Given the description of an element on the screen output the (x, y) to click on. 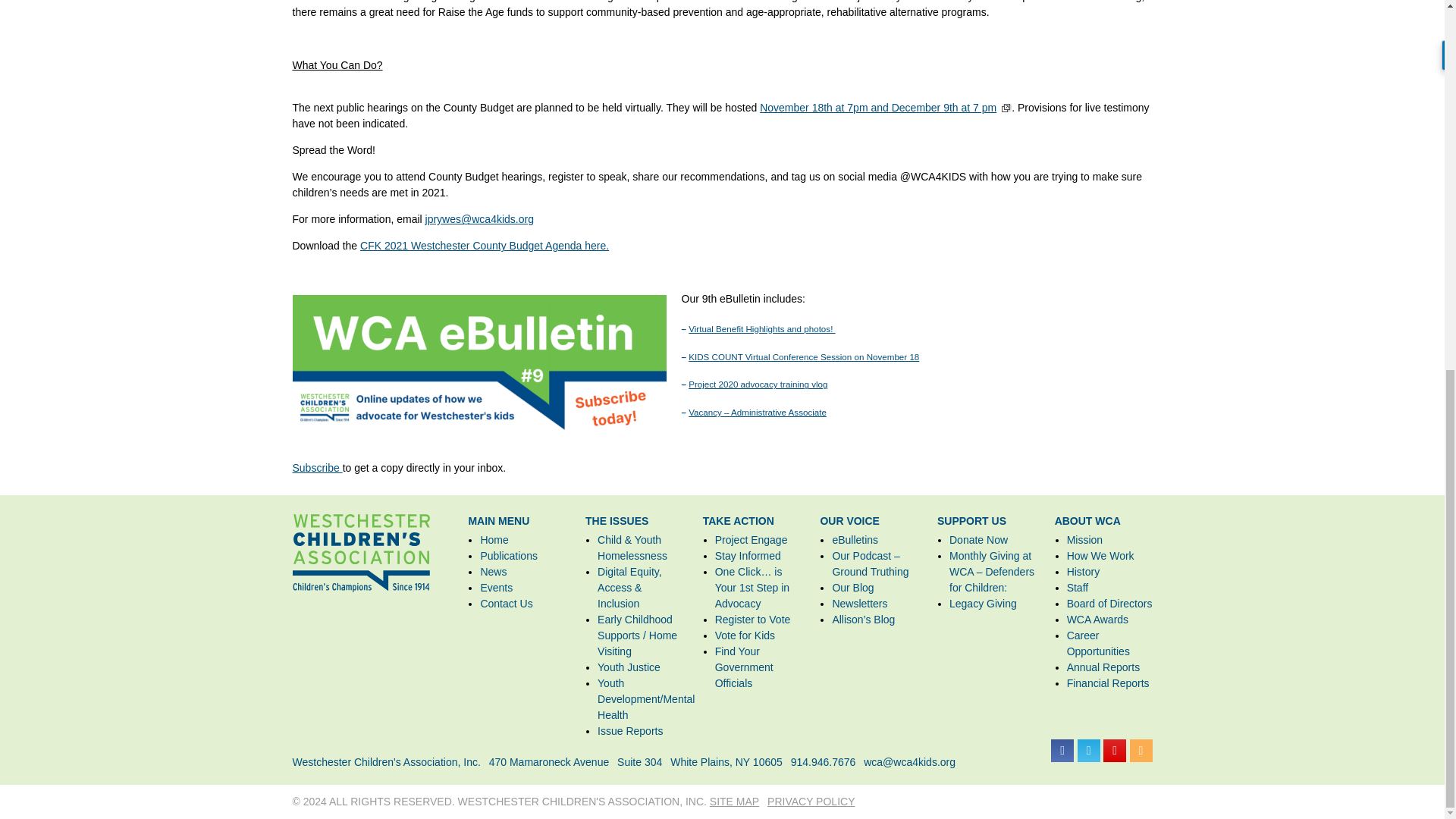
Follow WCA4Kids.org on Twitter (1088, 750)
See WCA4Kids.org on YouTube (1114, 750)
Westchester Children's Association Homepage (360, 553)
Like WCA4Kids.org on Facebook (1062, 750)
Follow WCA4Kids.org on Instagram (1141, 750)
